Given the description of an element on the screen output the (x, y) to click on. 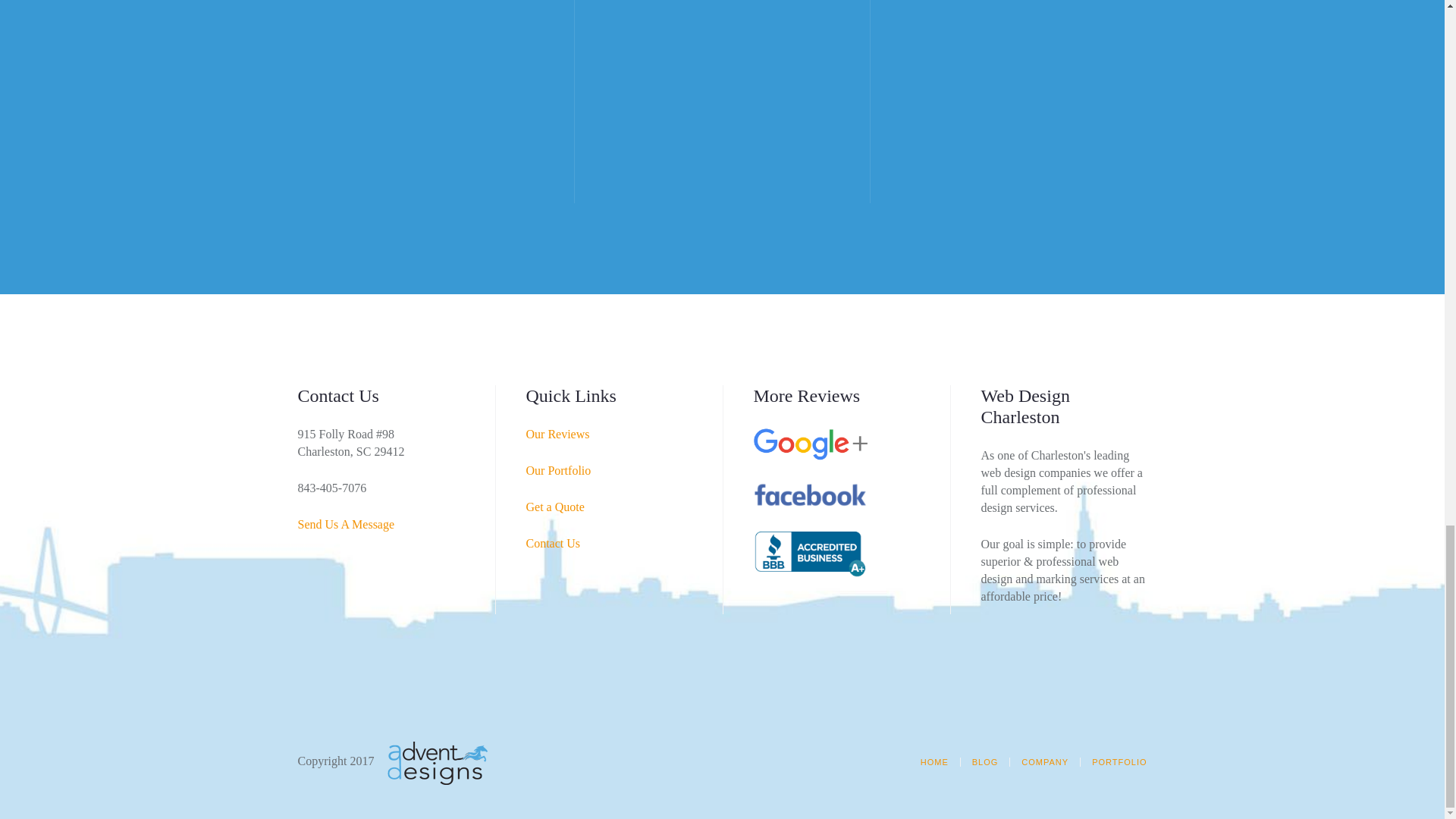
Advent Designs BBB Reviews (810, 551)
Advent Designs Portfolio (558, 470)
Advent Design Reviews (557, 433)
Get A Quote (555, 506)
Contact Us (552, 543)
Contact Us (345, 523)
Advent Designs Facebook Reviews (810, 493)
